Given the description of an element on the screen output the (x, y) to click on. 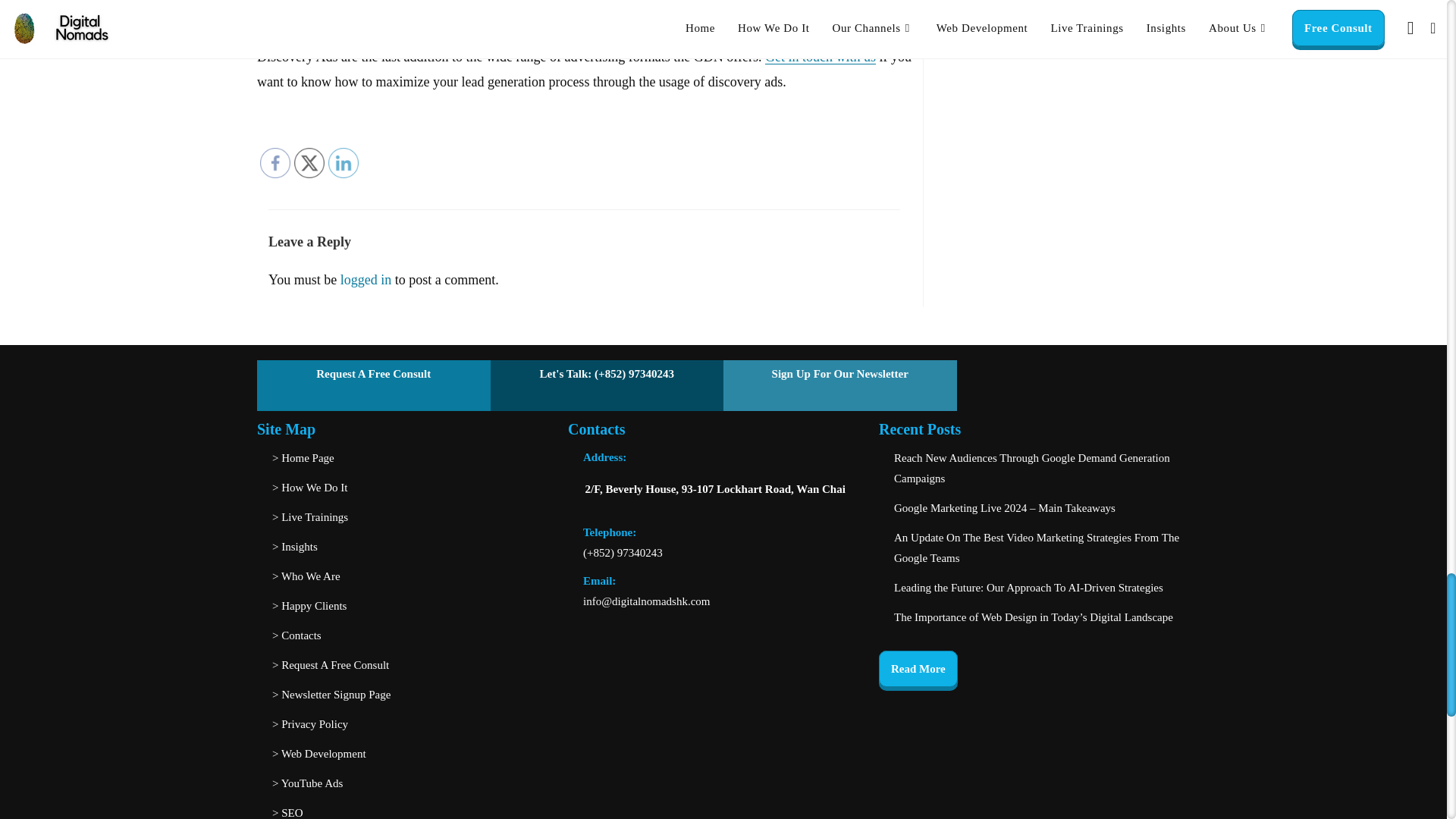
Facebook (274, 163)
Twitter (309, 163)
LinkedIn (343, 163)
Get in touch with us (820, 56)
digital marketing agencies in Hong Kong (535, 7)
lead generation opportunities (509, 32)
